Given the description of an element on the screen output the (x, y) to click on. 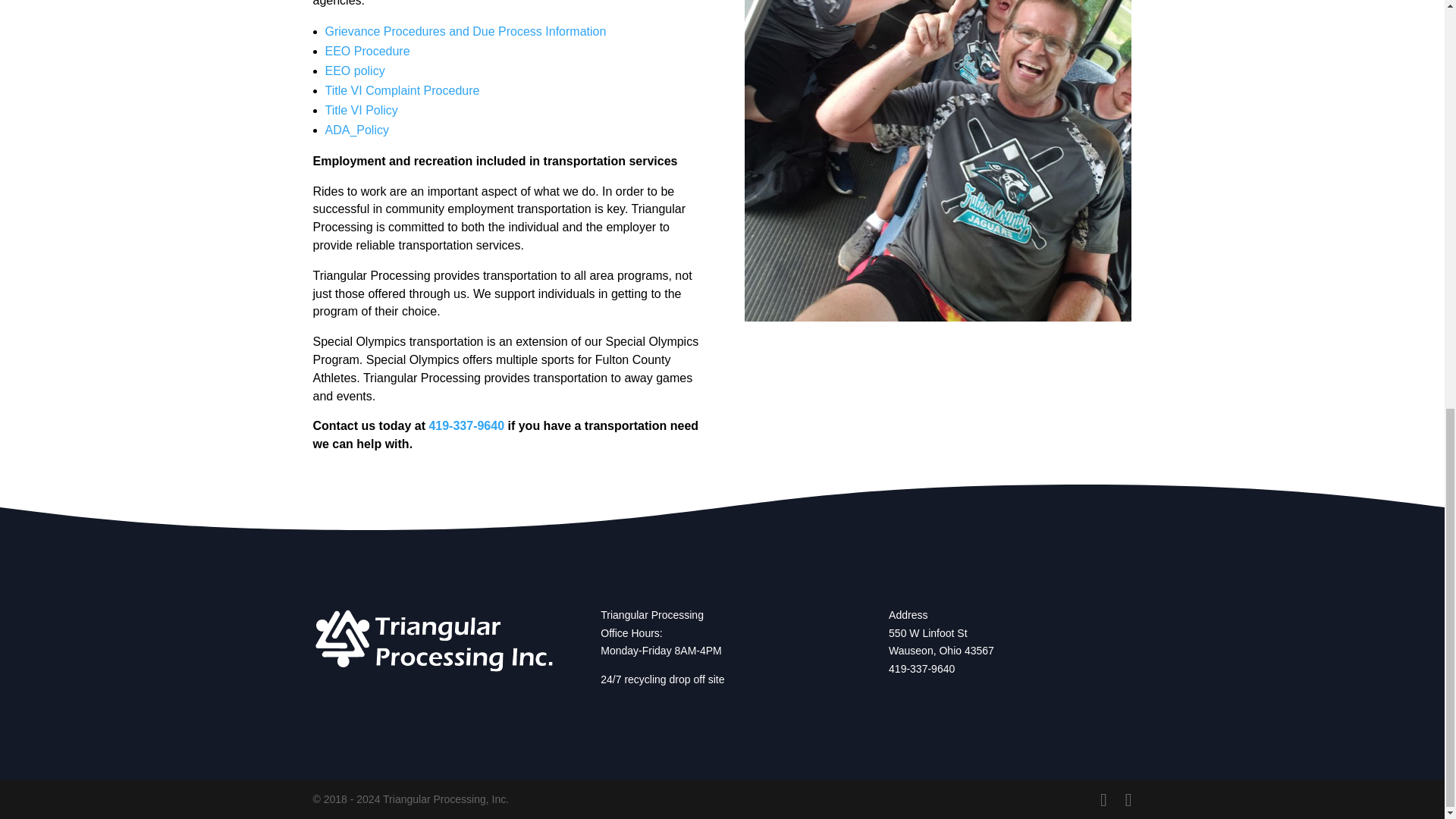
419-337-9640 (921, 668)
EEO policy (354, 70)
Grievance Procedures and Due Process Information (464, 31)
EEO Procedure (366, 51)
419-337-9640 (465, 425)
Title VI Policy (360, 110)
Title VI Complaint Procedure (401, 90)
